Given the description of an element on the screen output the (x, y) to click on. 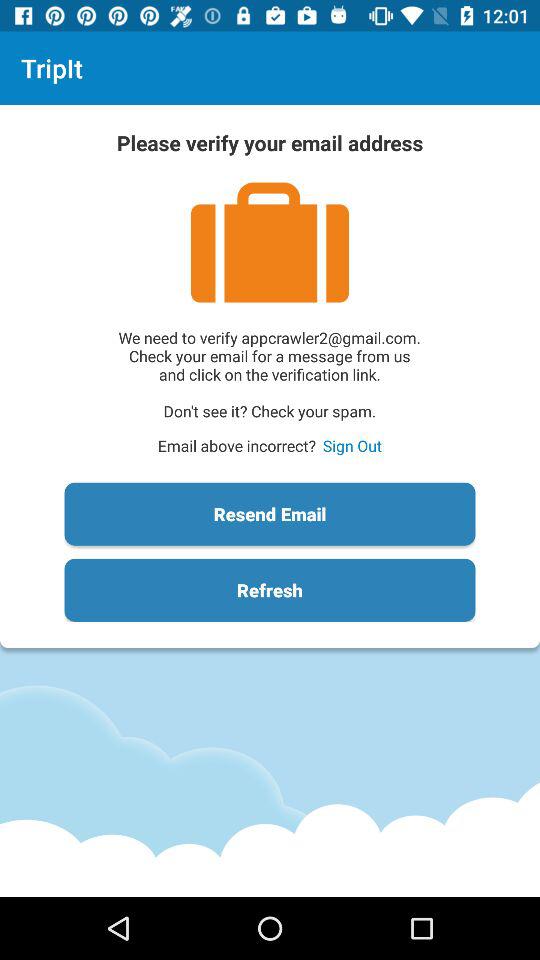
open the icon to the right of the email above incorrect? (352, 445)
